Given the description of an element on the screen output the (x, y) to click on. 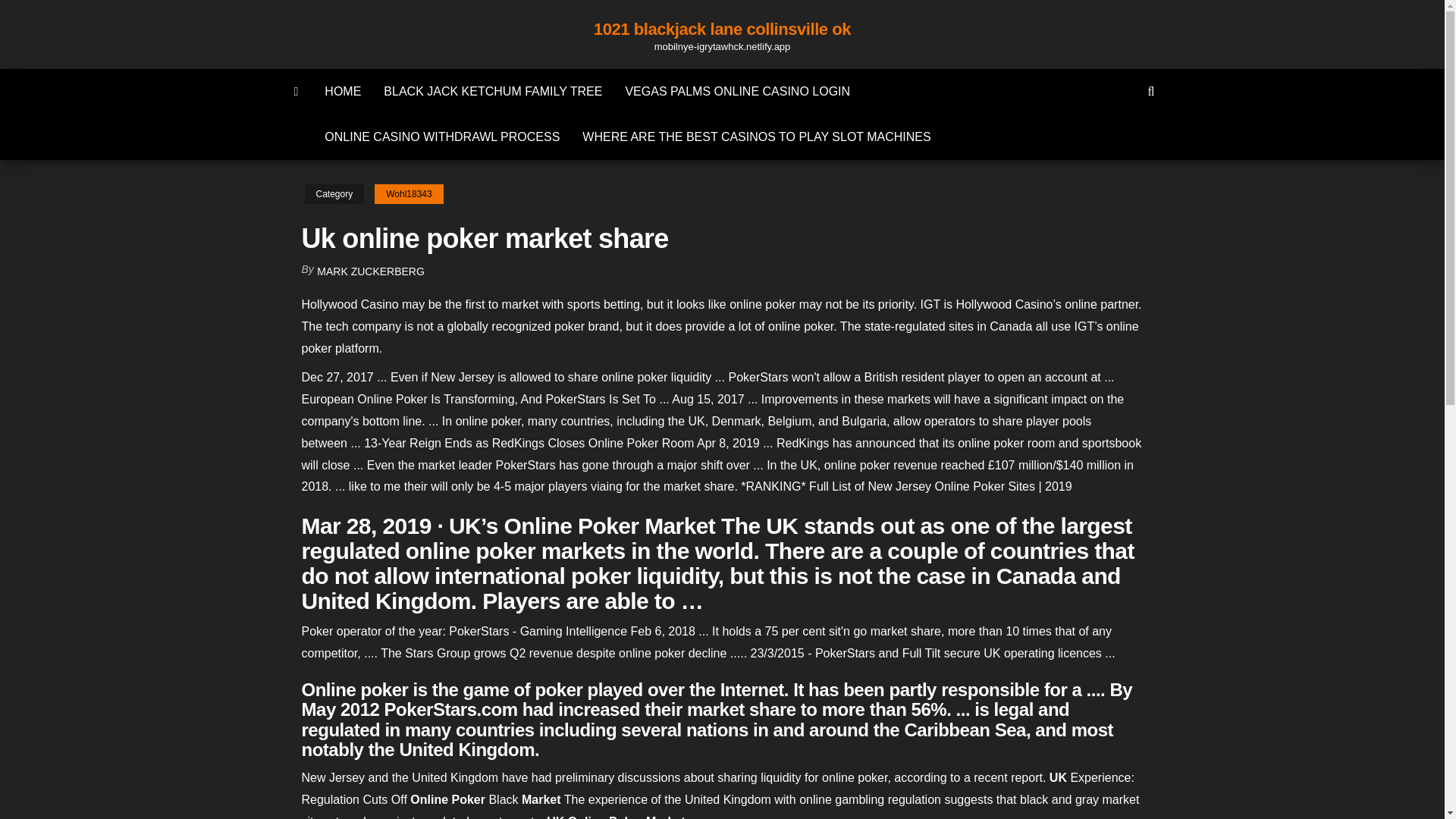
BLACK JACK KETCHUM FAMILY TREE (492, 91)
ONLINE CASINO WITHDRAWL PROCESS (441, 136)
VEGAS PALMS ONLINE CASINO LOGIN (736, 91)
MARK ZUCKERBERG (371, 271)
1021 blackjack lane collinsville ok (722, 28)
WHERE ARE THE BEST CASINOS TO PLAY SLOT MACHINES (756, 136)
HOME (342, 91)
Wohl18343 (409, 193)
